Given the description of an element on the screen output the (x, y) to click on. 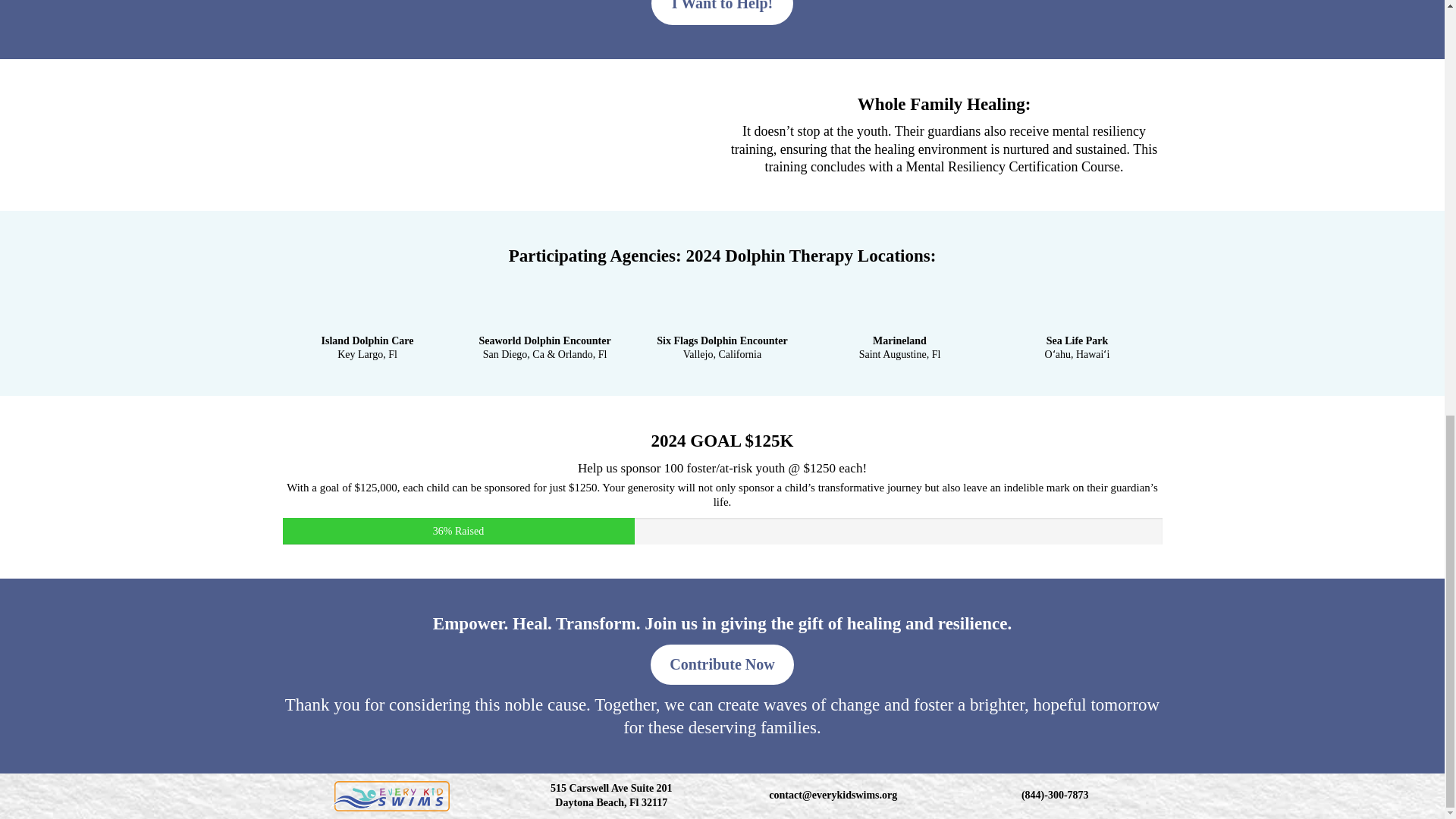
I Want to Help! (721, 12)
Contribute Now (721, 664)
